Given the description of an element on the screen output the (x, y) to click on. 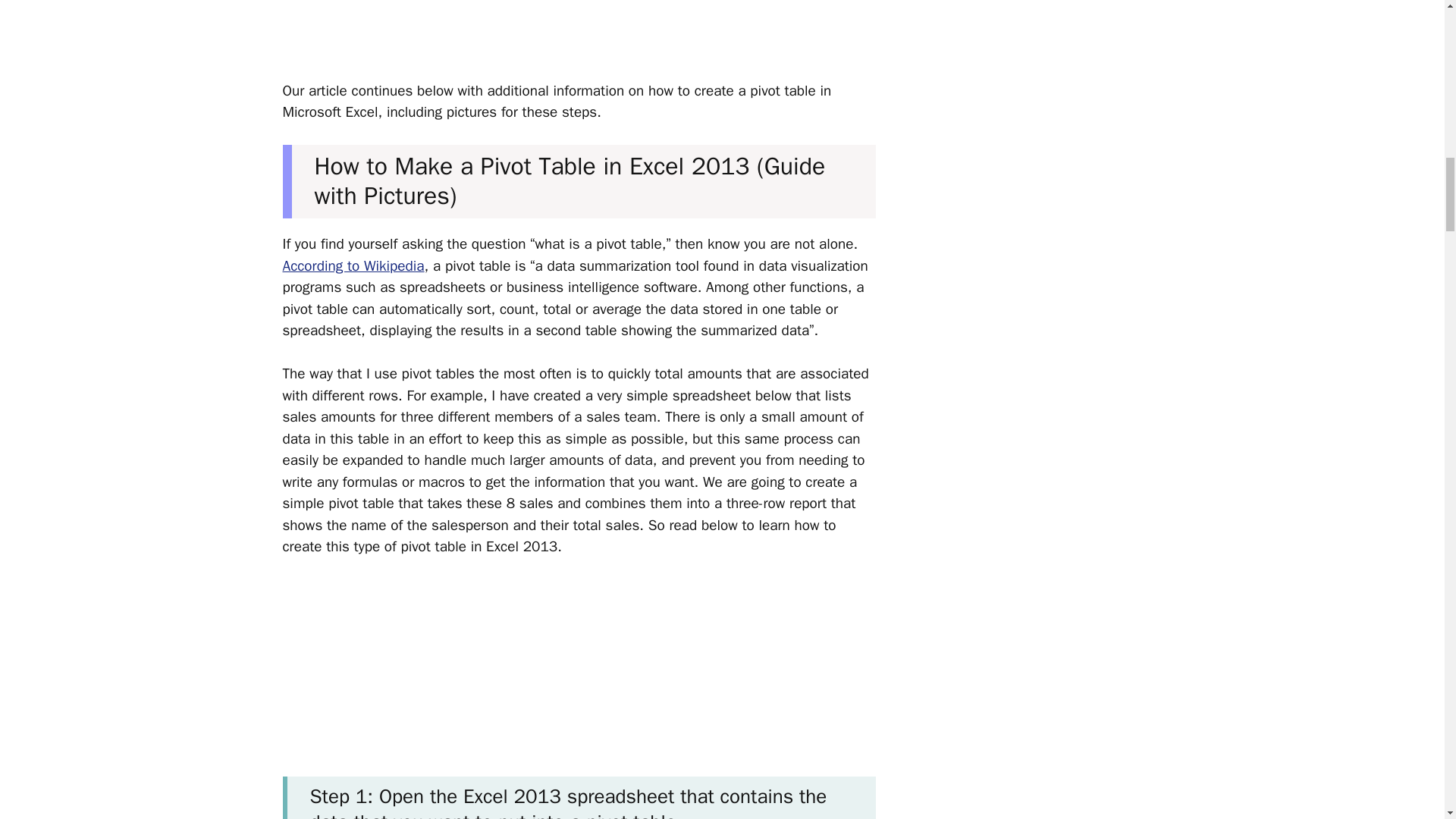
According to Wikipedia (352, 266)
